Given the description of an element on the screen output the (x, y) to click on. 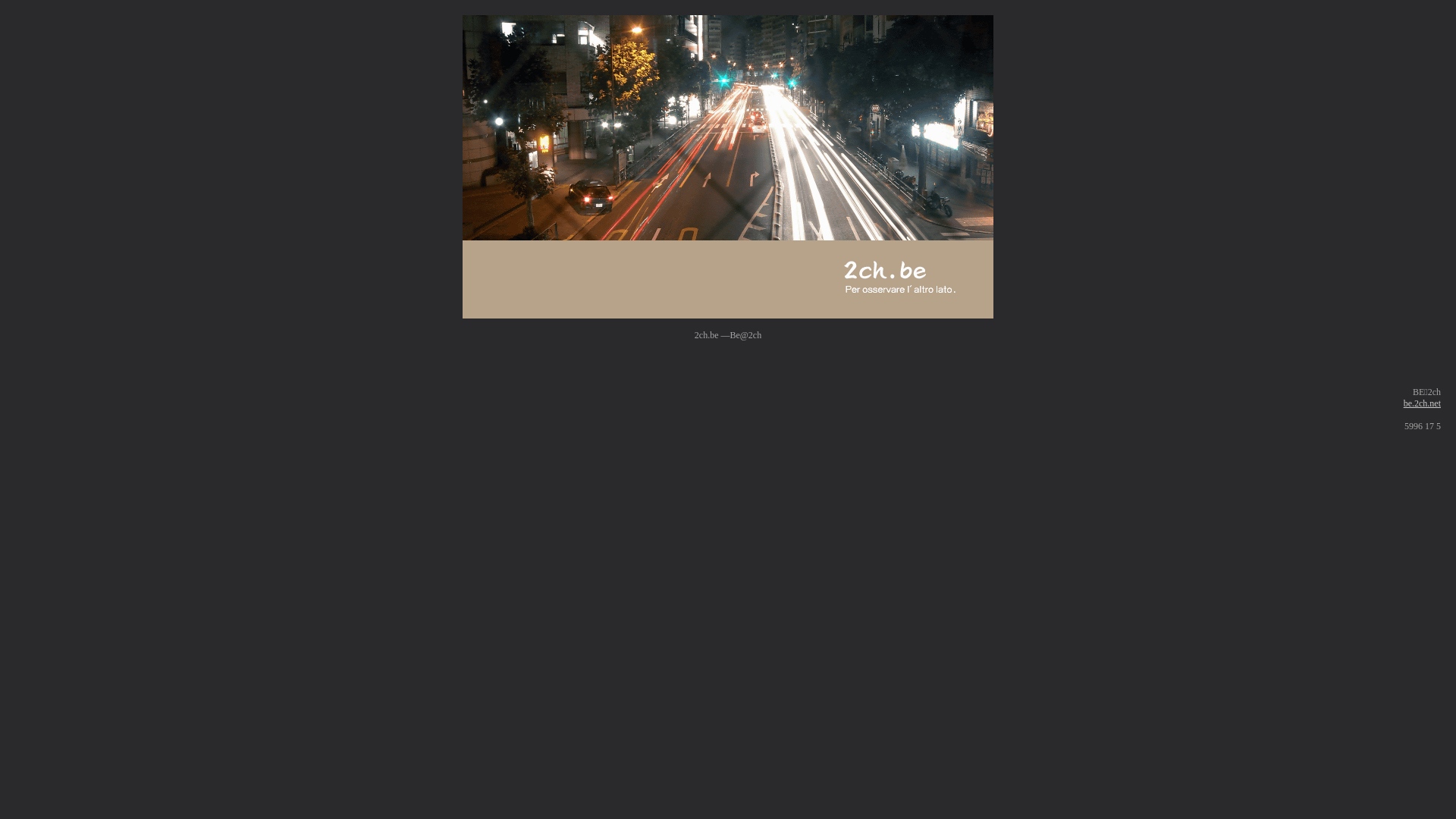
be.2ch.net Element type: text (1421, 403)
